Given the description of an element on the screen output the (x, y) to click on. 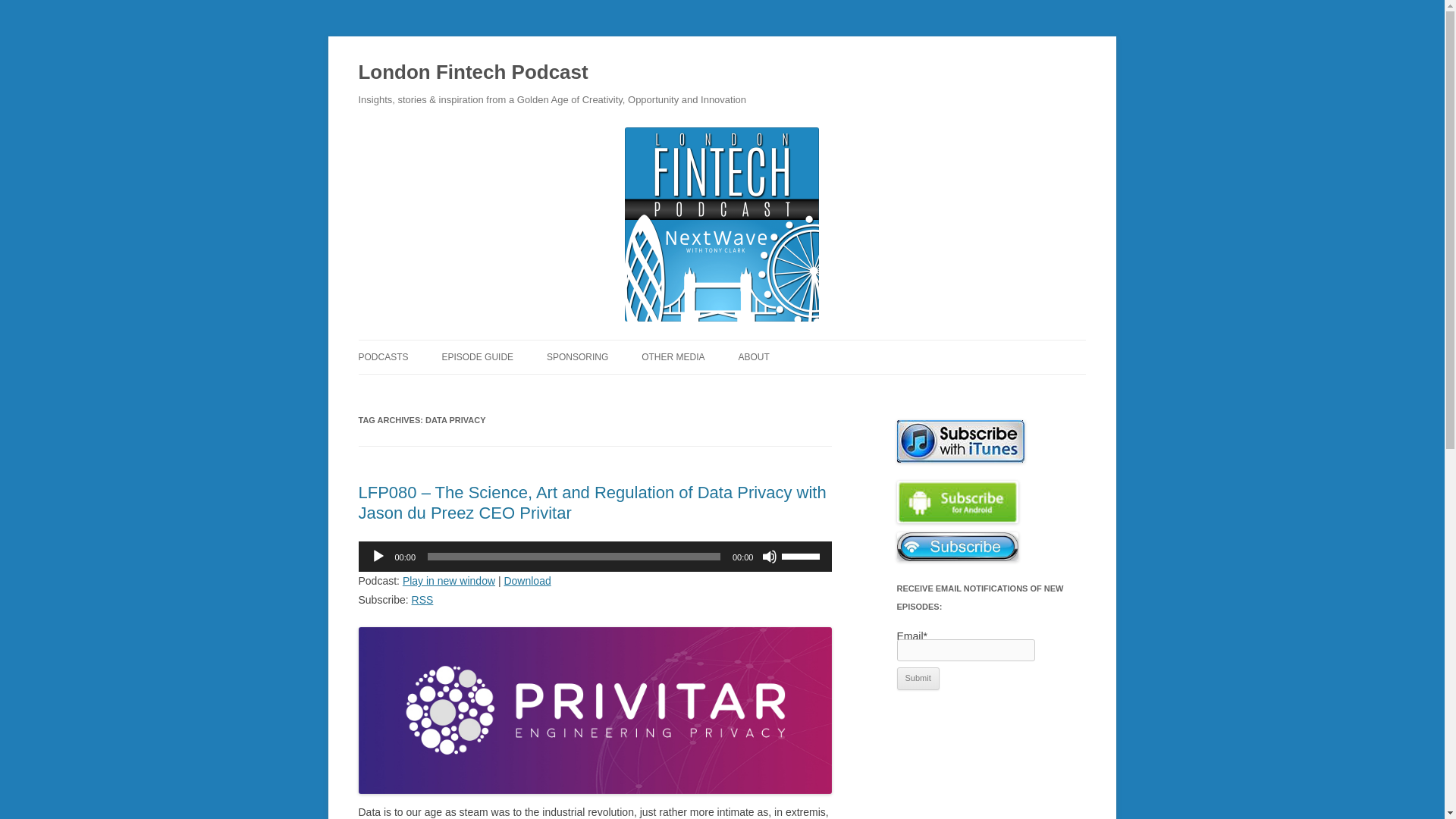
Play in new window (449, 580)
Mute (769, 556)
London Fintech Podcast (473, 72)
Download (526, 580)
SPONSORING (577, 356)
Subscribe via RSS (422, 599)
Submit (917, 678)
PODCASTS (382, 356)
Play (377, 556)
London Fintech Podcast (473, 72)
Play in new window (449, 580)
ABOUT (753, 356)
RSS (422, 599)
